Given the description of an element on the screen output the (x, y) to click on. 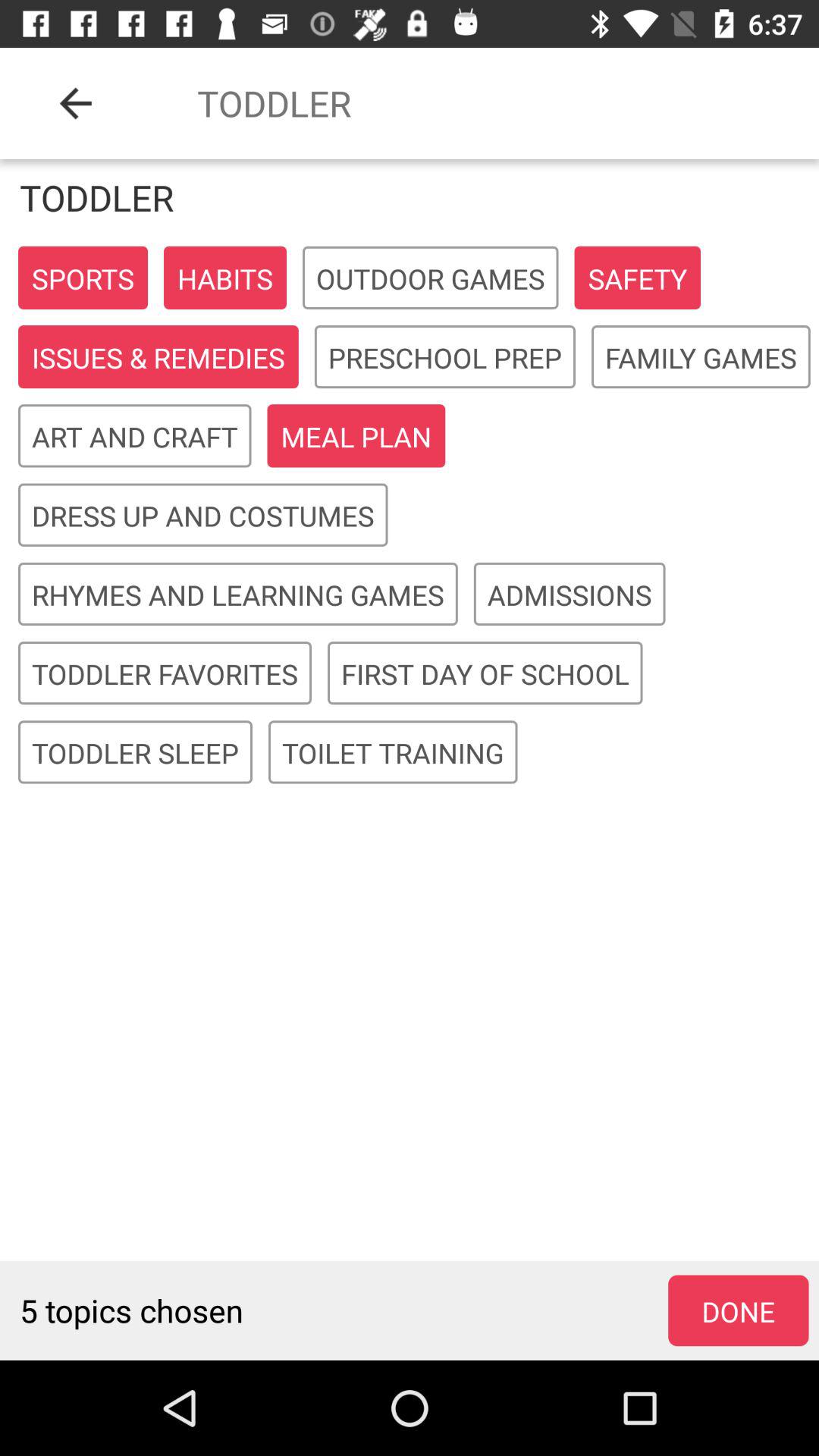
press item to the left of the preschool prep icon (157, 357)
